Given the description of an element on the screen output the (x, y) to click on. 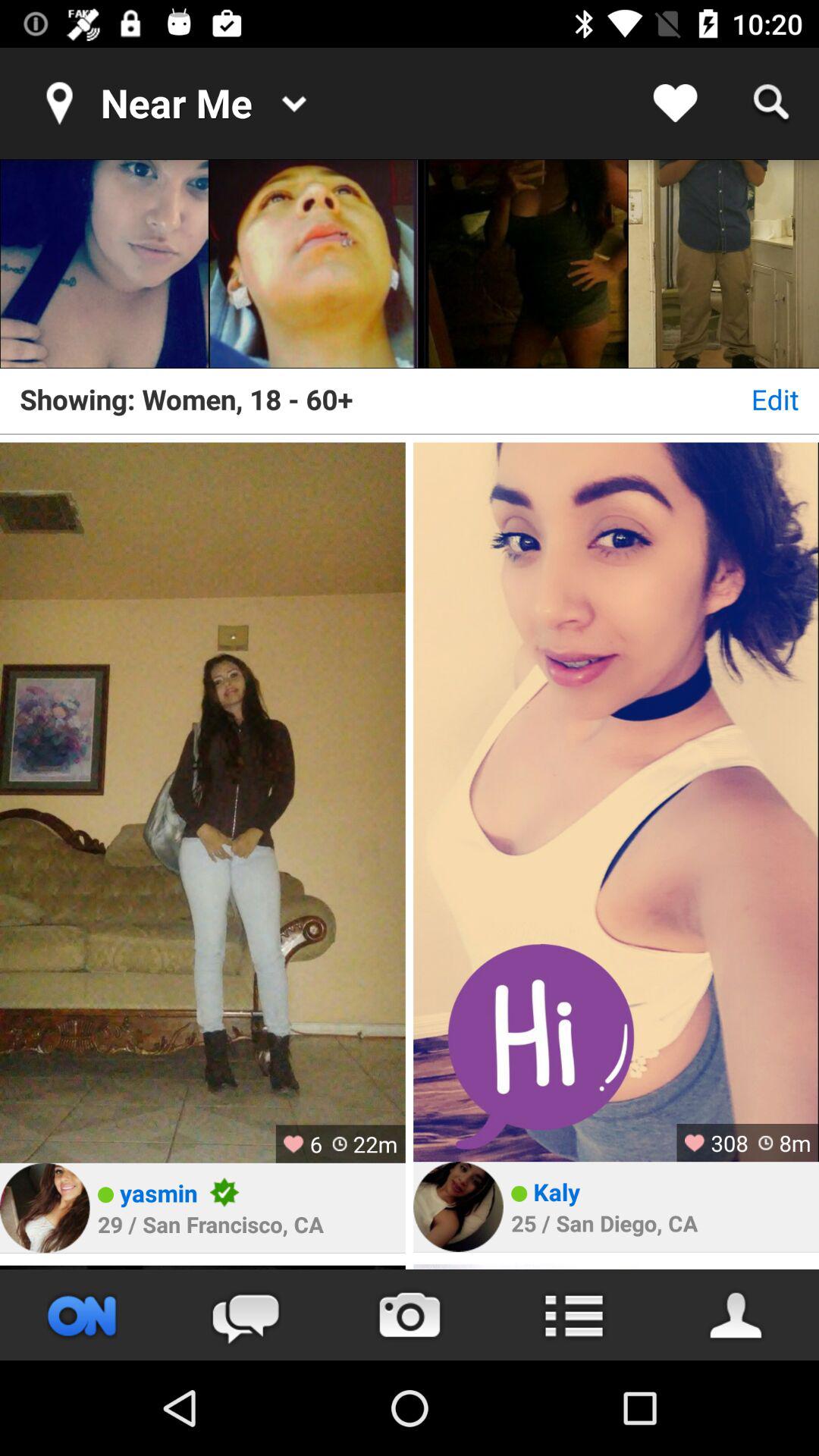
photo of girl (313, 263)
